Given the description of an element on the screen output the (x, y) to click on. 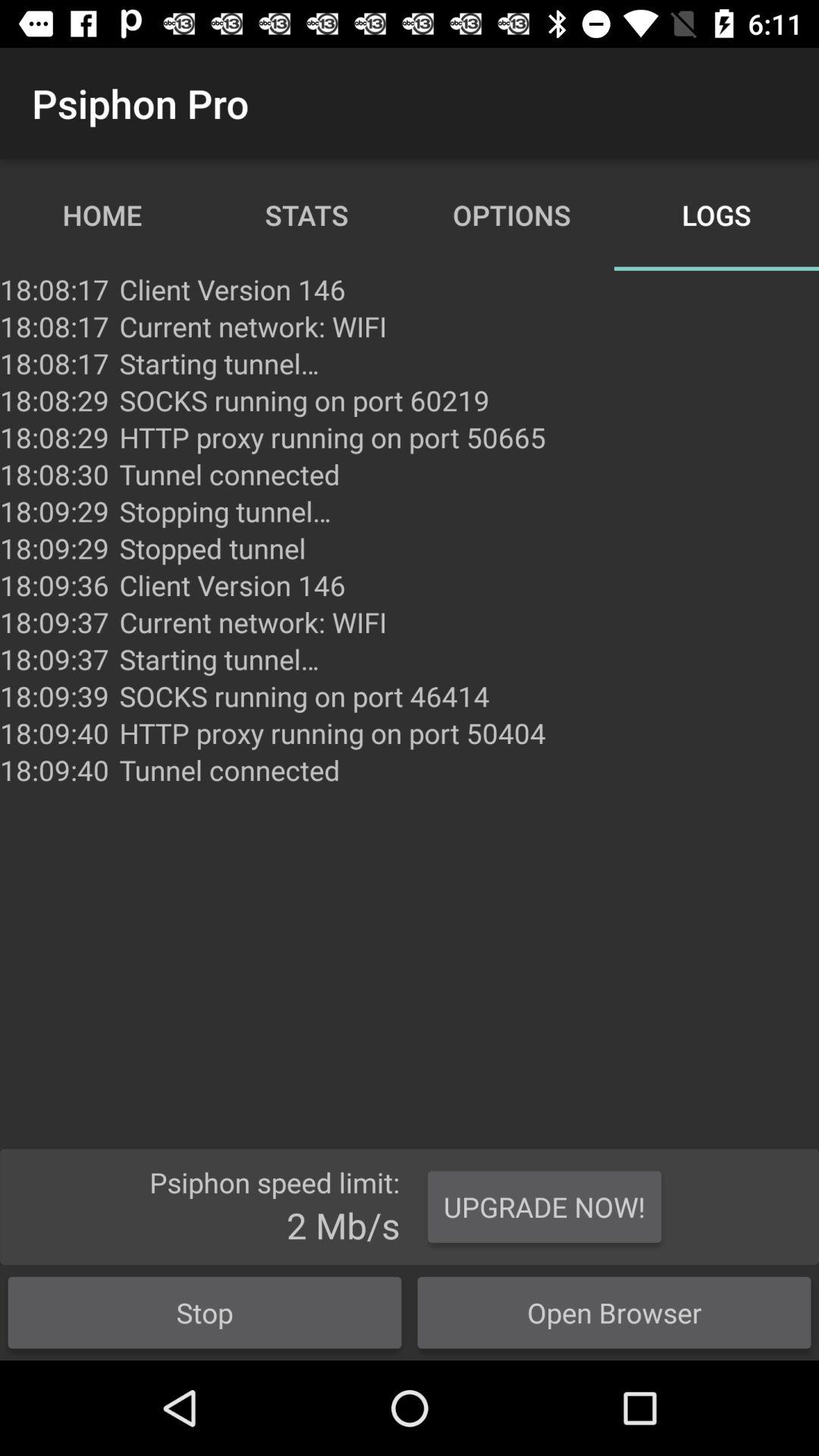
choose the app above the client version 146 app (212, 548)
